Given the description of an element on the screen output the (x, y) to click on. 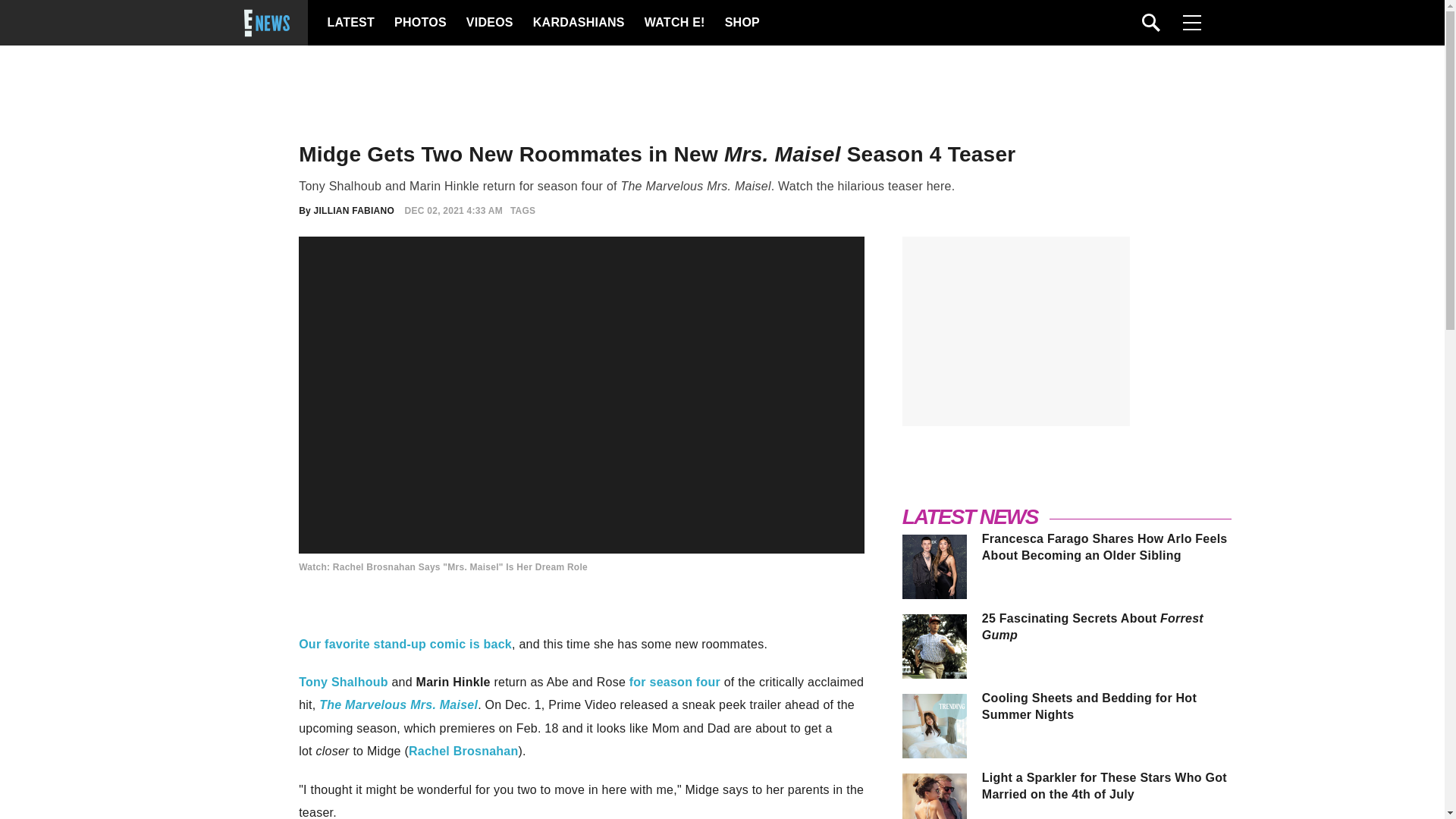
25 Fascinating Secrets About Forrest Gump (1106, 626)
The Marvelous Mrs. Maisel (397, 704)
Tony Shalhoub (343, 681)
SHOP (741, 22)
for season four (674, 681)
VIDEOS (488, 22)
Cooling Sheets and Bedding for Hot Summer Nights (1106, 706)
Our favorite stand-up comic is back (405, 644)
Rachel Brosnahan (463, 750)
JILLIAN FABIANO (354, 210)
WATCH E! (673, 22)
KARDASHIANS (577, 22)
PHOTOS (419, 22)
